Given the description of an element on the screen output the (x, y) to click on. 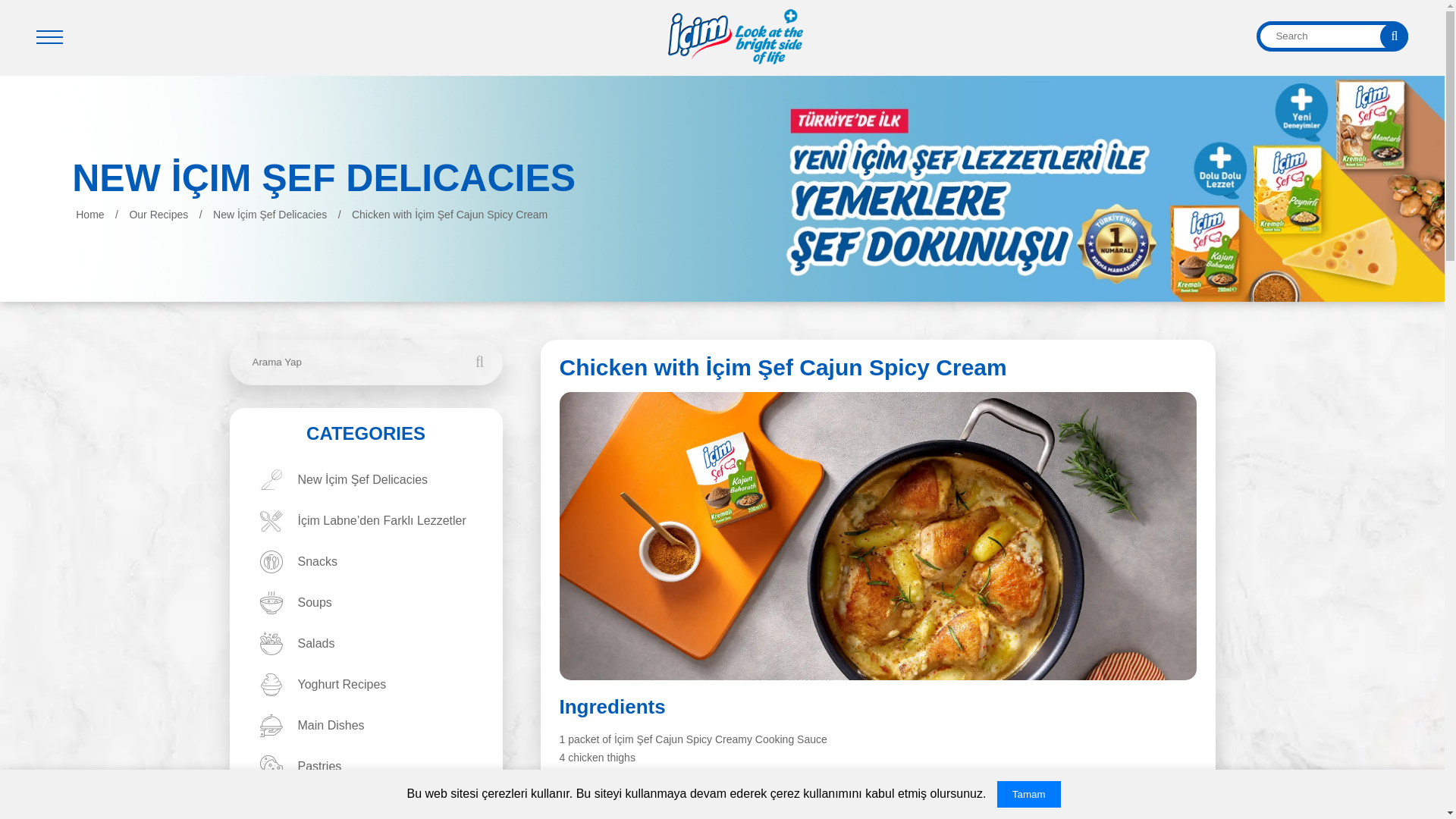
Tamam (1029, 794)
